Given the description of an element on the screen output the (x, y) to click on. 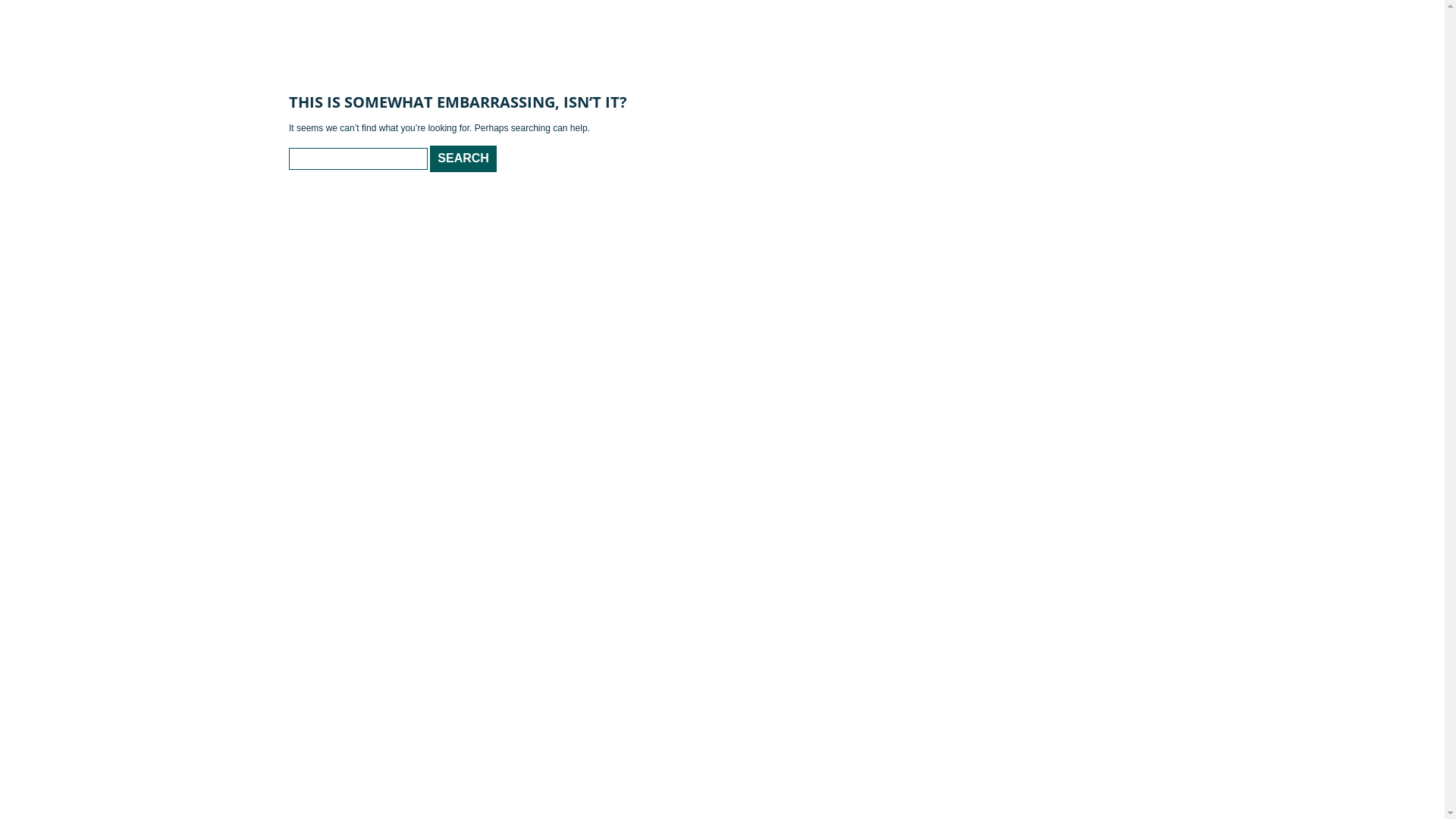
Search Element type: text (462, 158)
